Given the description of an element on the screen output the (x, y) to click on. 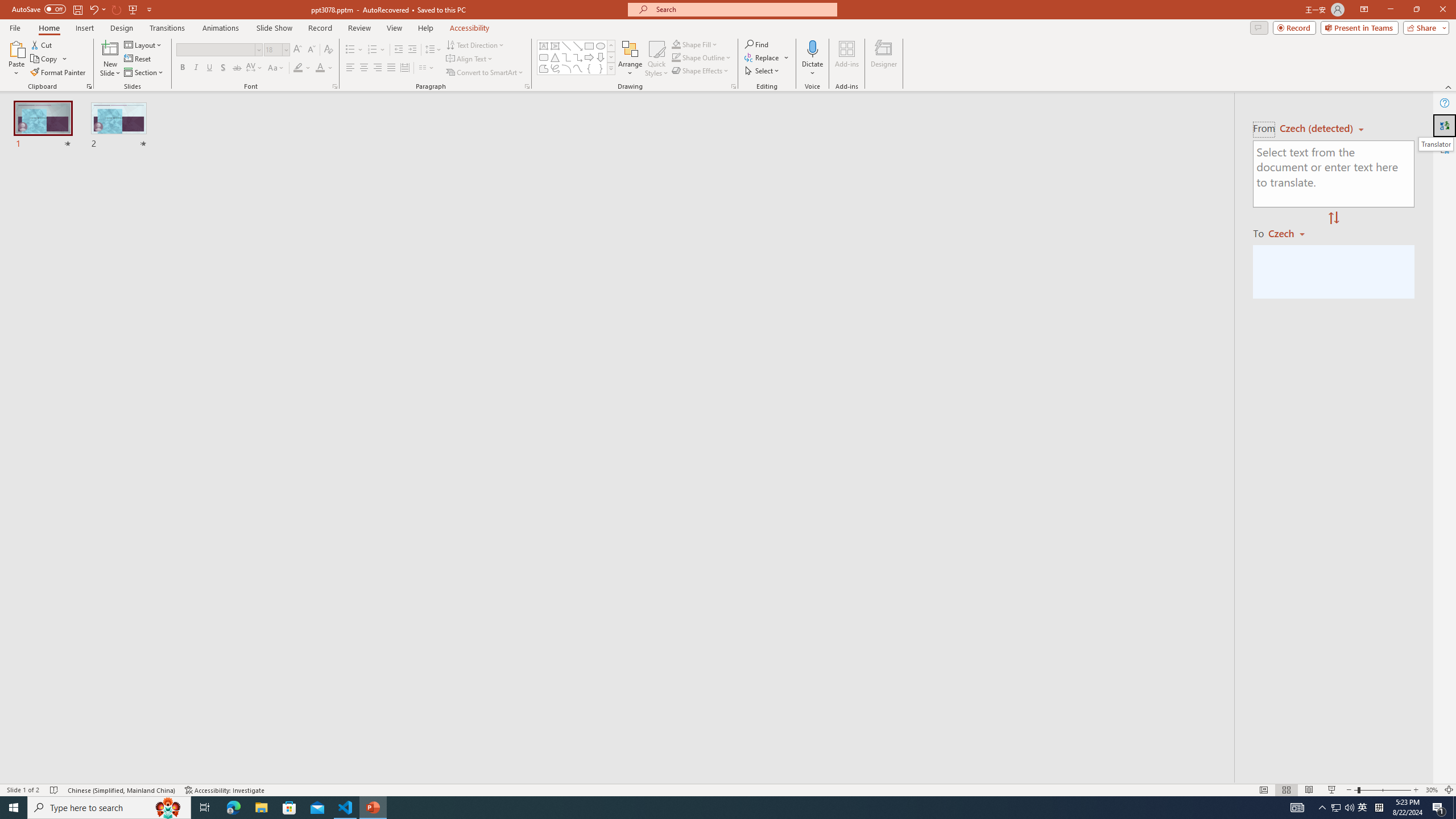
Strikethrough (237, 67)
Zoom to Fit  (1449, 790)
Format Painter (58, 72)
Rectangle: Rounded Corners (543, 57)
Dictate (812, 58)
Transitions (167, 28)
From Beginning (133, 9)
Decrease Font Size (310, 49)
Bold (182, 67)
Align Text (470, 58)
Collapse the Ribbon (1448, 86)
Czech (detected) (1317, 128)
Decrease Indent (398, 49)
Shape Outline Green, Accent 1 (675, 56)
